Given the description of an element on the screen output the (x, y) to click on. 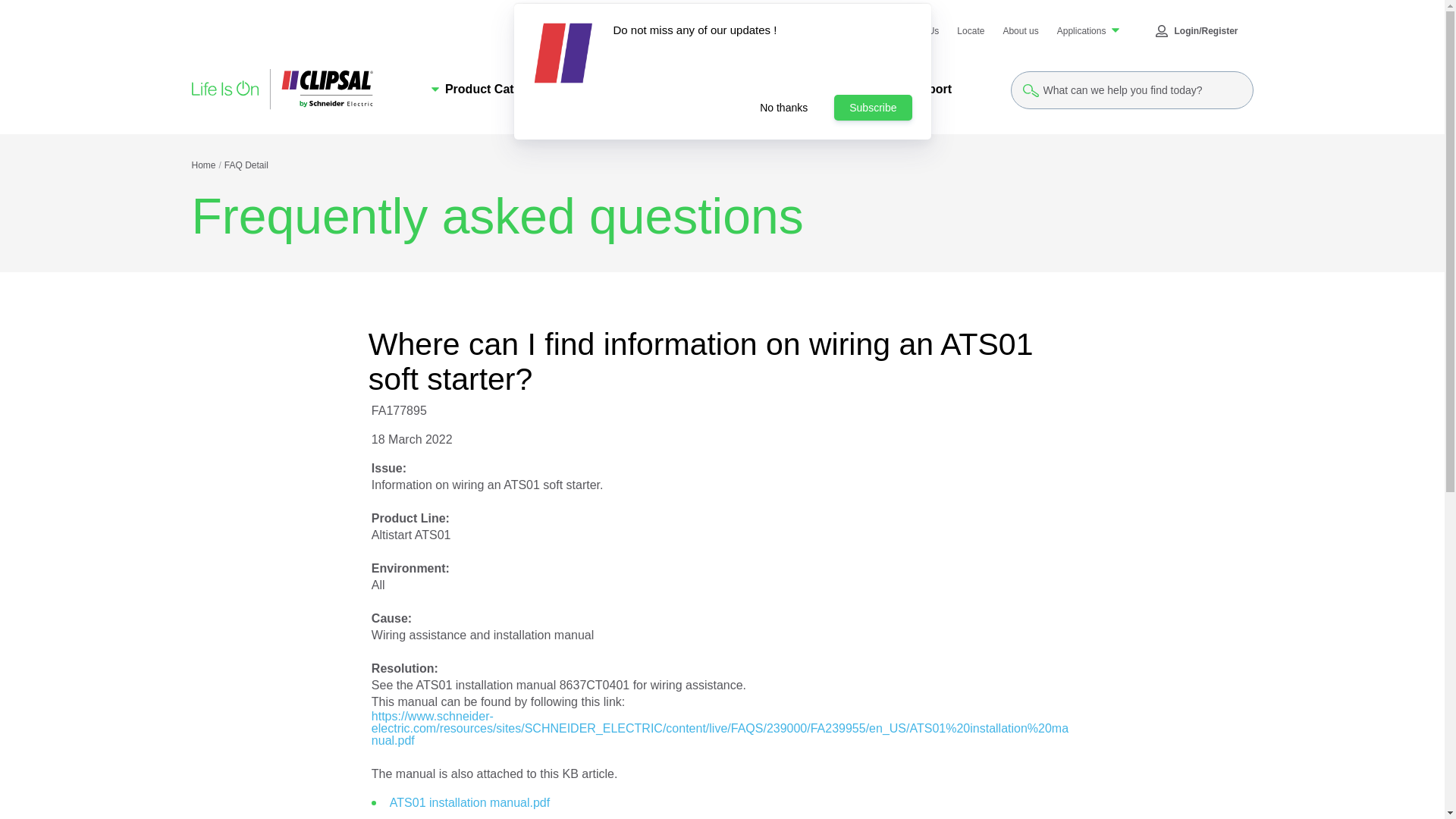
No thanks (783, 107)
Subscribe (872, 107)
Product Catalogue (492, 88)
